Given the description of an element on the screen output the (x, y) to click on. 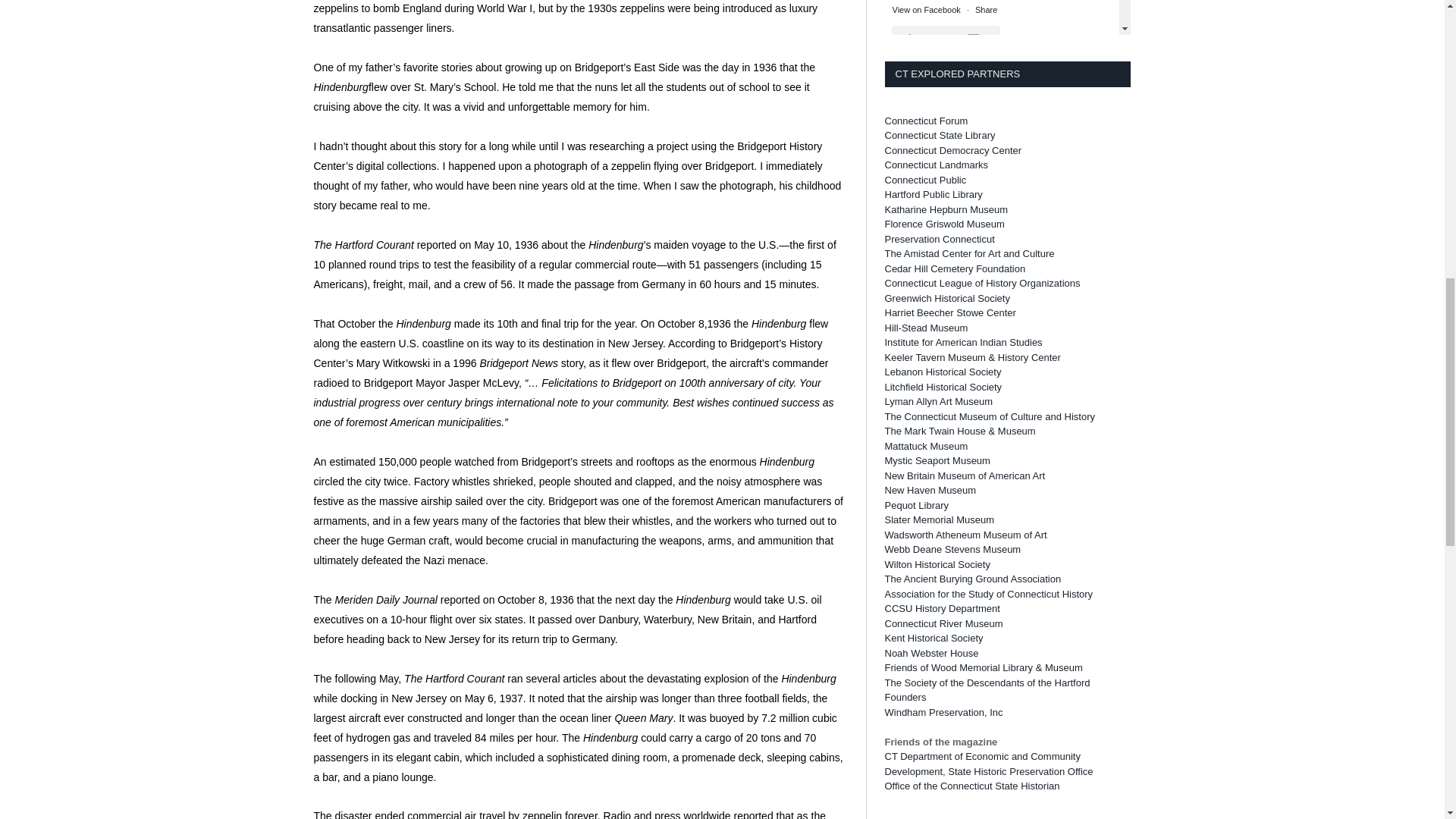
View on Facebook (925, 518)
View on Facebook (925, 789)
Facebook video player (1001, 392)
Share (986, 789)
Share (986, 9)
Share (986, 518)
View on Facebook (925, 9)
